Given the description of an element on the screen output the (x, y) to click on. 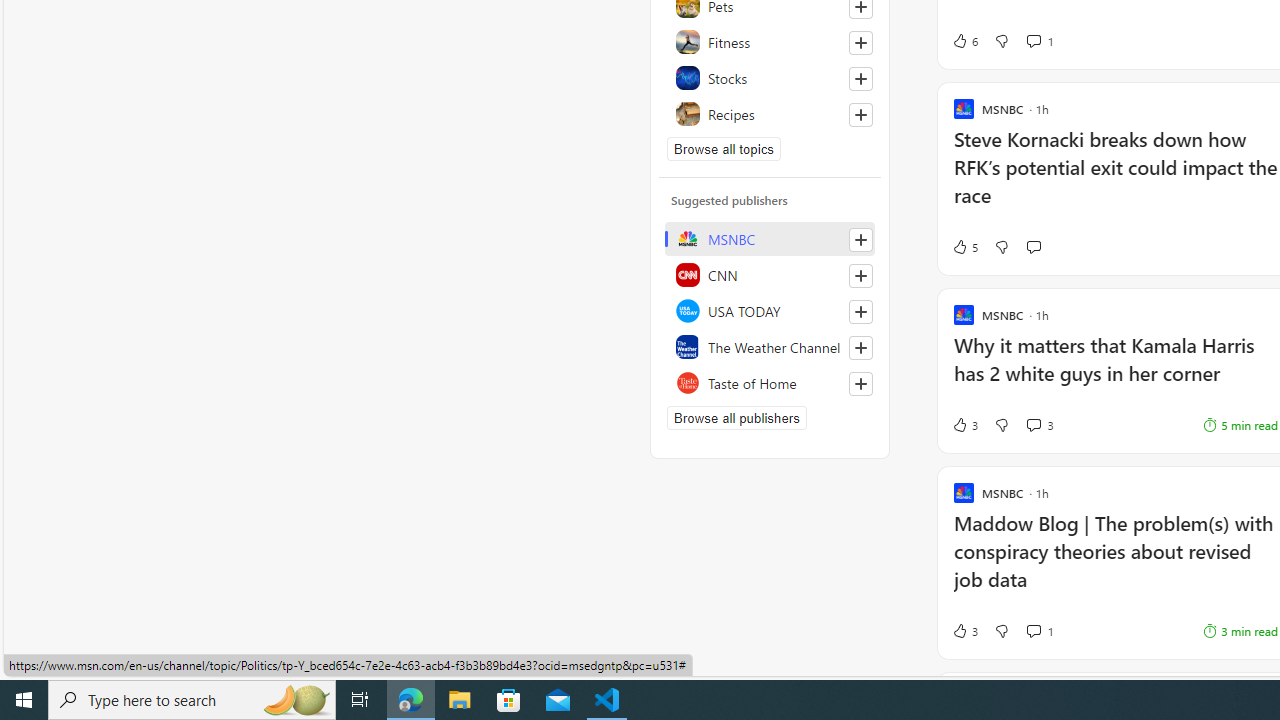
Start the conversation (1033, 246)
Start the conversation (1033, 246)
MSNBC (770, 238)
3 Like (964, 630)
Browse all publishers (736, 417)
Taste of Home (770, 382)
View comments 3 Comment (1033, 424)
5 Like (964, 246)
Fitness (770, 42)
View comments 3 Comment (1039, 425)
Dislike (1001, 630)
Browse all topics (724, 148)
